Given the description of an element on the screen output the (x, y) to click on. 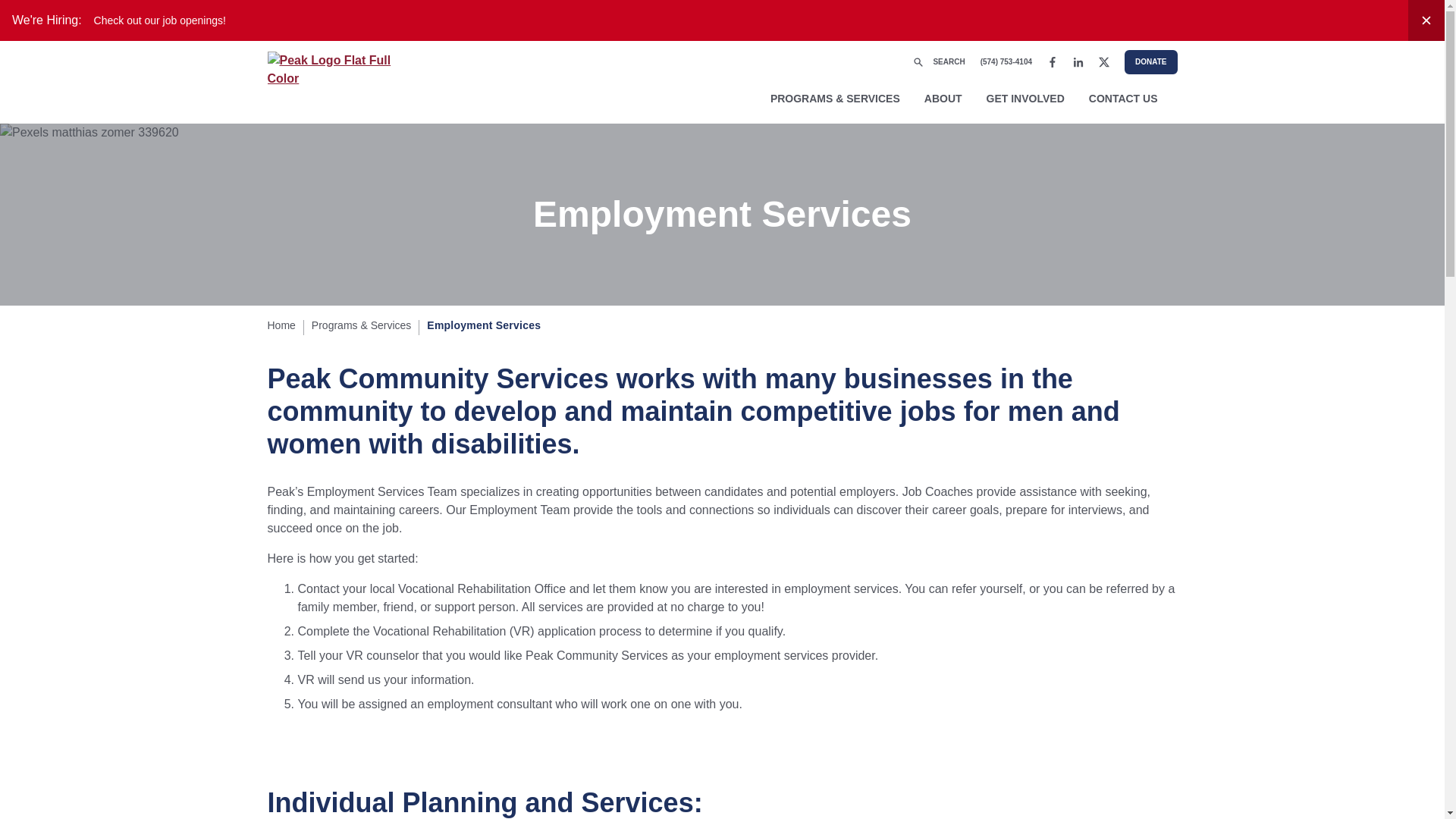
GET INVOLVED (1024, 98)
DONATE (1150, 61)
Home (280, 325)
We're Hiring: Check out our job openings! (703, 20)
SEARCH (937, 61)
CONTACT US (1122, 98)
ABOUT (943, 98)
